Given the description of an element on the screen output the (x, y) to click on. 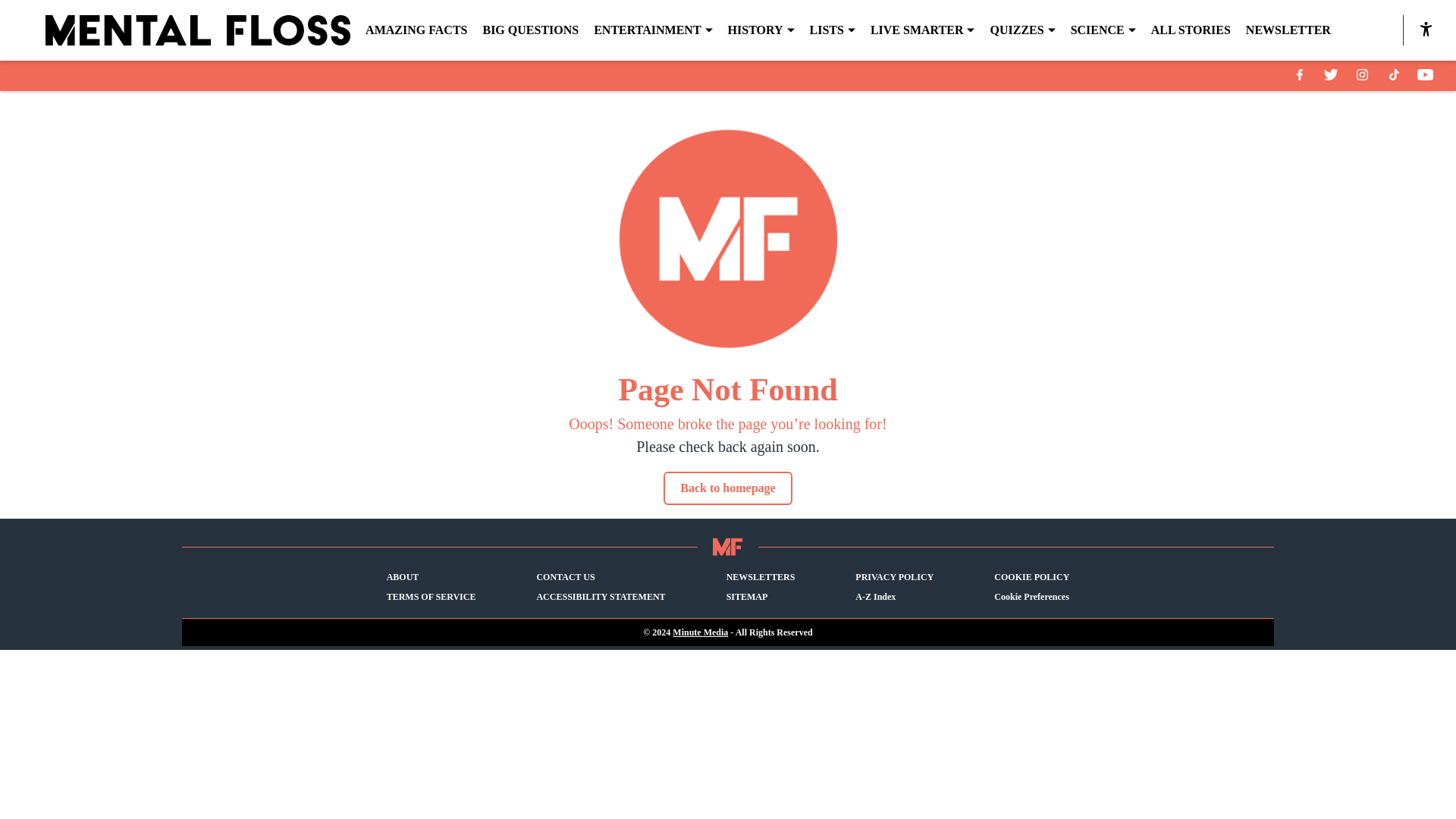
AMAZING FACTS (416, 30)
ALL STORIES (1190, 30)
Error image (727, 238)
NEWSLETTER (1288, 30)
BIG QUESTIONS (529, 30)
